Given the description of an element on the screen output the (x, y) to click on. 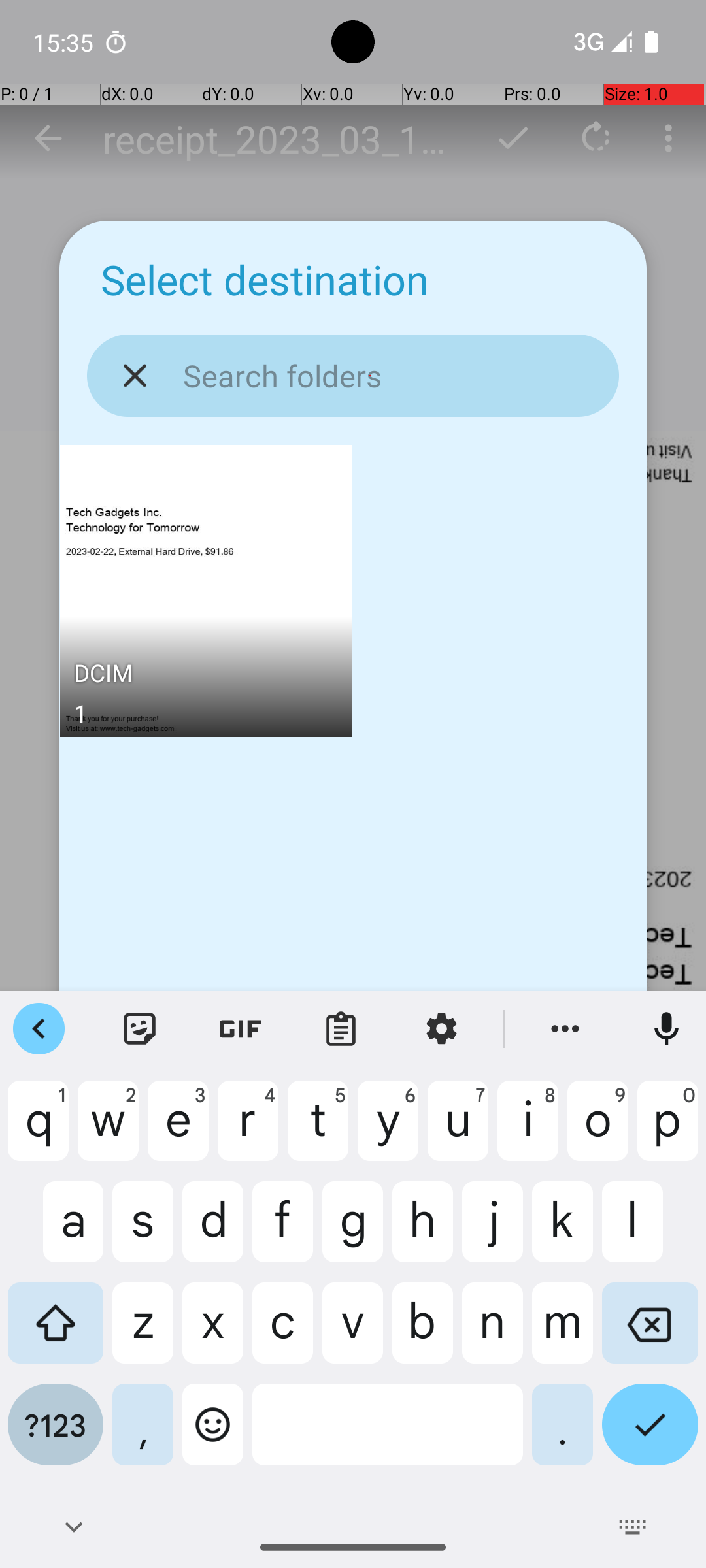
Select destination Element type: android.widget.TextView (264, 279)
